Given the description of an element on the screen output the (x, y) to click on. 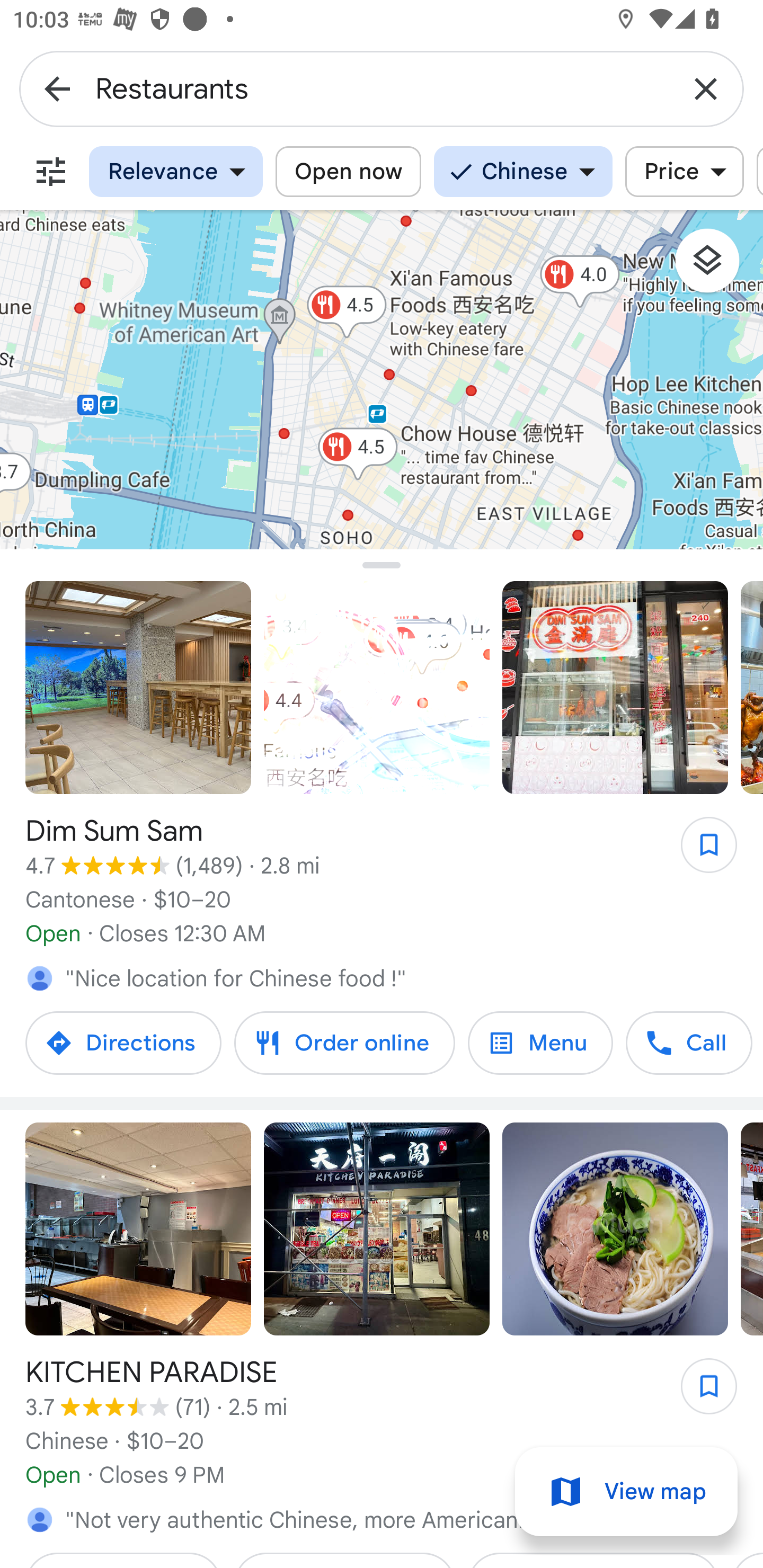
Back (57, 88)
Restaurants (381, 88)
Clear (705, 88)
More filters (50, 171)
Relevance Relevance Relevance (175, 171)
Open now Open now Open now (348, 171)
Chinese Chinese Chinese (523, 171)
Price Price Price (683, 171)
Layers (716, 267)
Photo (138, 687)
Video (376, 687)
Photo (614, 687)
Save Dim Sum Sam to lists (699, 851)
Dim Sum Sam Menu Menu Dim Sum Sam Menu (539, 1043)
Photo (138, 1228)
Photo (376, 1228)
Photo (614, 1228)
Save KITCHEN PARADISE to lists (699, 1392)
View map Map view (626, 1491)
